Given the description of an element on the screen output the (x, y) to click on. 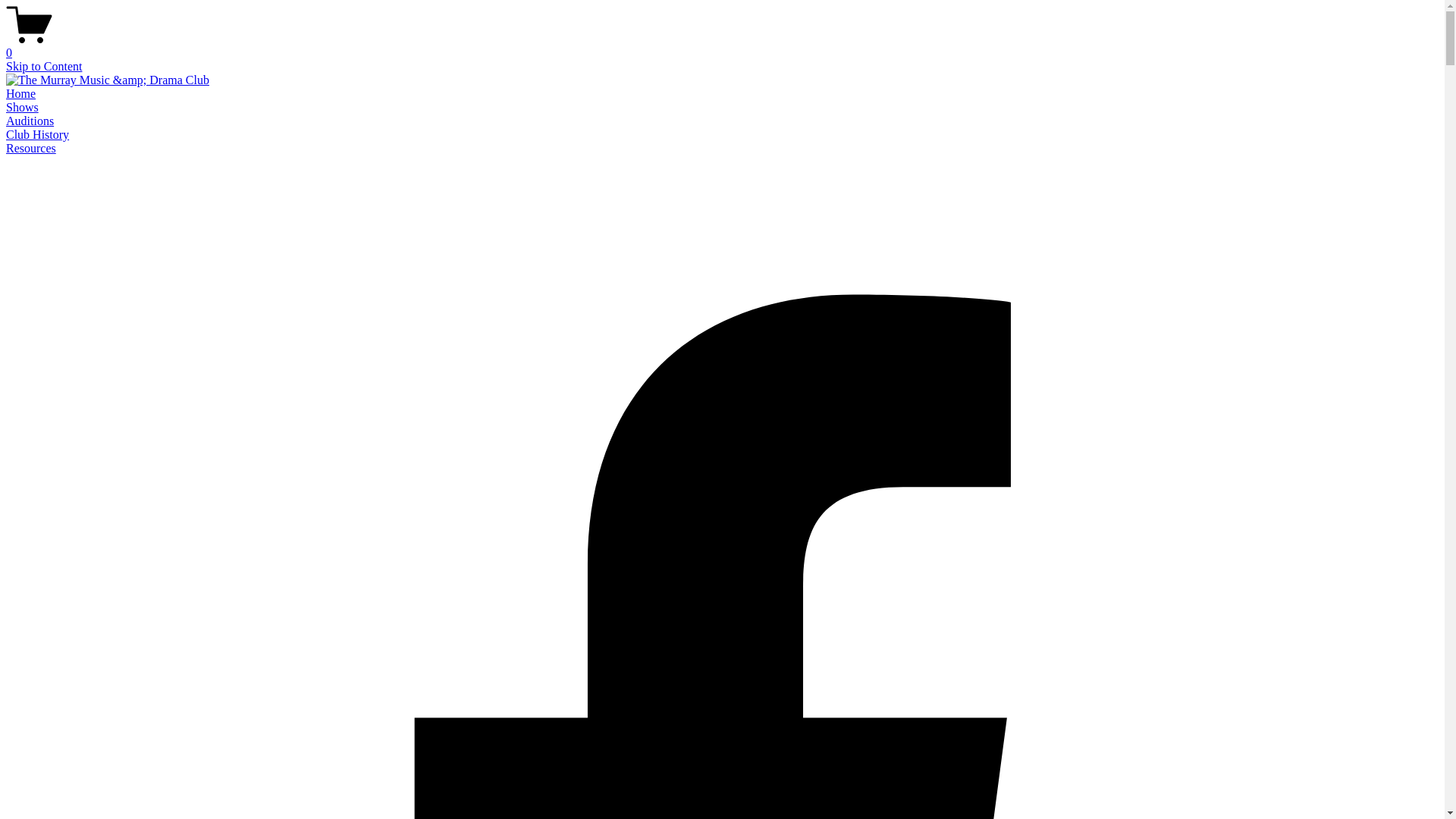
Auditions Element type: text (29, 120)
Resources Element type: text (31, 147)
Skip to Content Element type: text (43, 65)
Home Element type: text (20, 93)
0 Element type: text (722, 45)
Shows Element type: text (22, 106)
Club History Element type: text (37, 134)
